Given the description of an element on the screen output the (x, y) to click on. 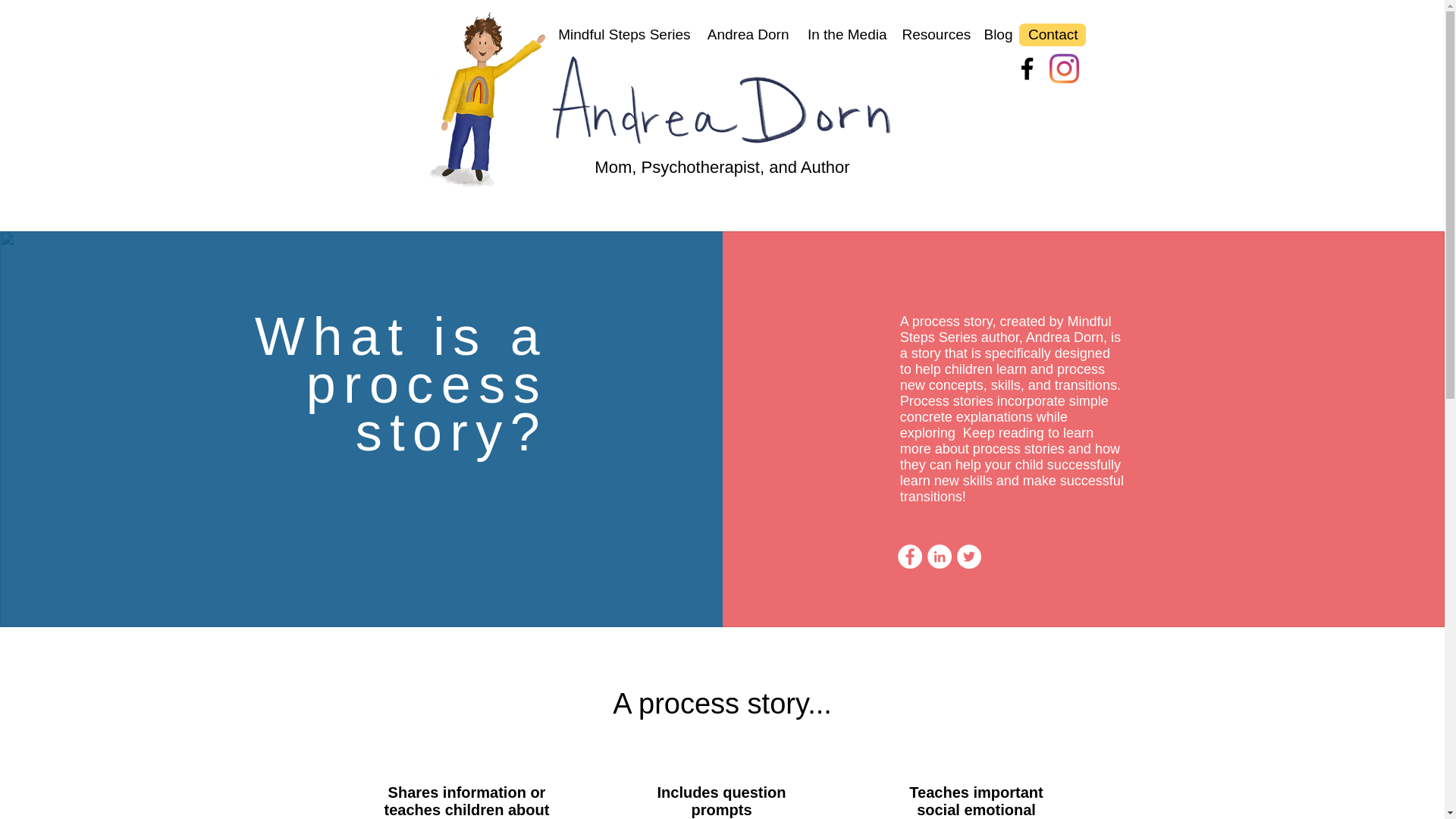
Blog (997, 34)
Andrea Dorn (746, 34)
Resources (935, 34)
Contact (1053, 34)
In the Media (844, 34)
Mindful Steps Series (623, 34)
